Given the description of an element on the screen output the (x, y) to click on. 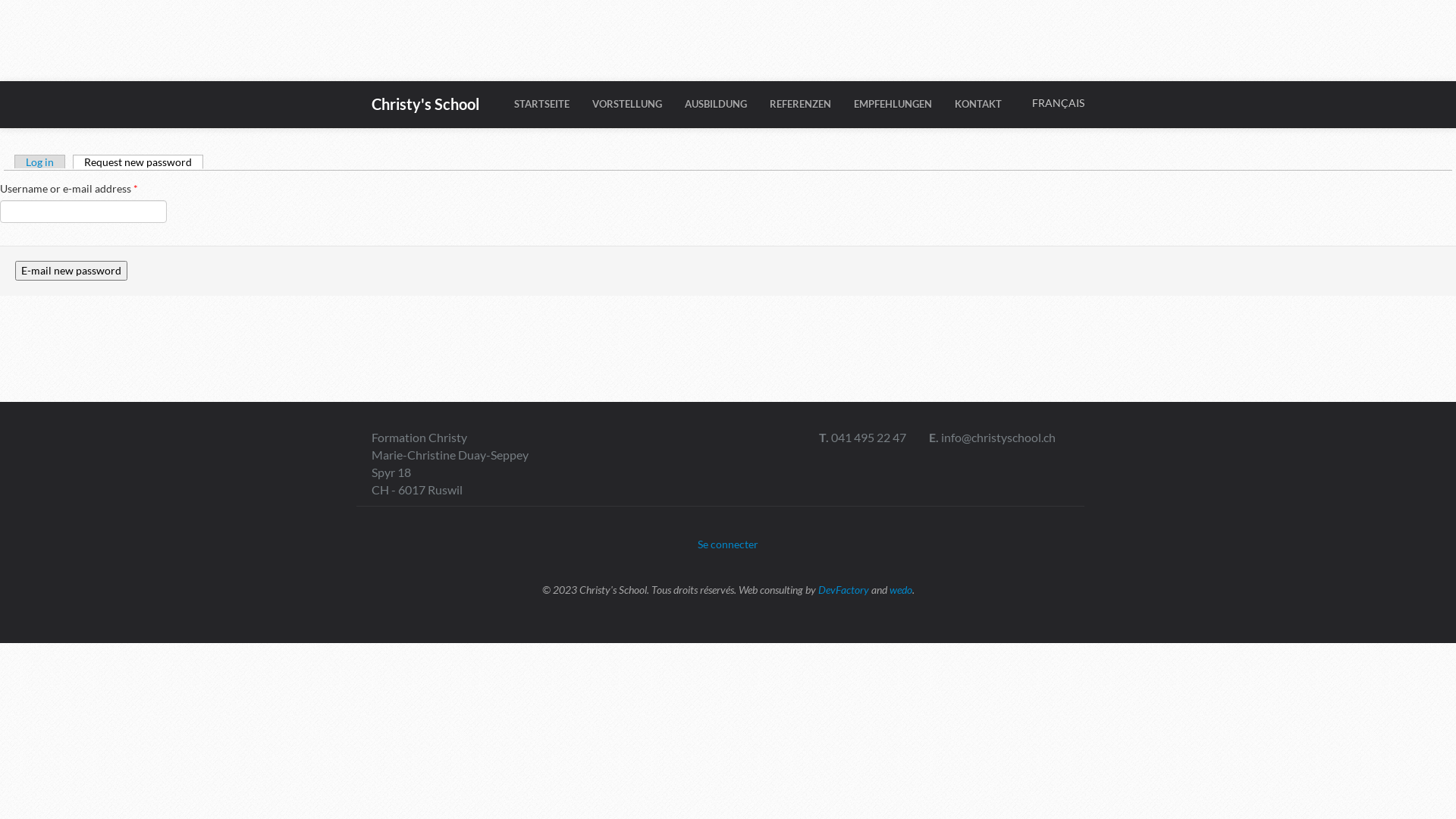
Log in Element type: text (39, 161)
E-mail new password Element type: text (71, 270)
EMPFEHLUNGEN Element type: text (892, 103)
wedo Element type: text (899, 589)
STARTSEITE Element type: text (541, 103)
Christy's School Element type: text (425, 103)
Se connecter Element type: text (727, 543)
info@christyschool.ch Element type: text (998, 436)
DevFactory Element type: text (842, 589)
AUSBILDUNG Element type: text (715, 103)
KONTAKT Element type: text (978, 103)
REFERENZEN Element type: text (800, 103)
Request new password
(active tab) Element type: text (137, 161)
VORSTELLUNG Element type: text (626, 103)
